Given the description of an element on the screen output the (x, y) to click on. 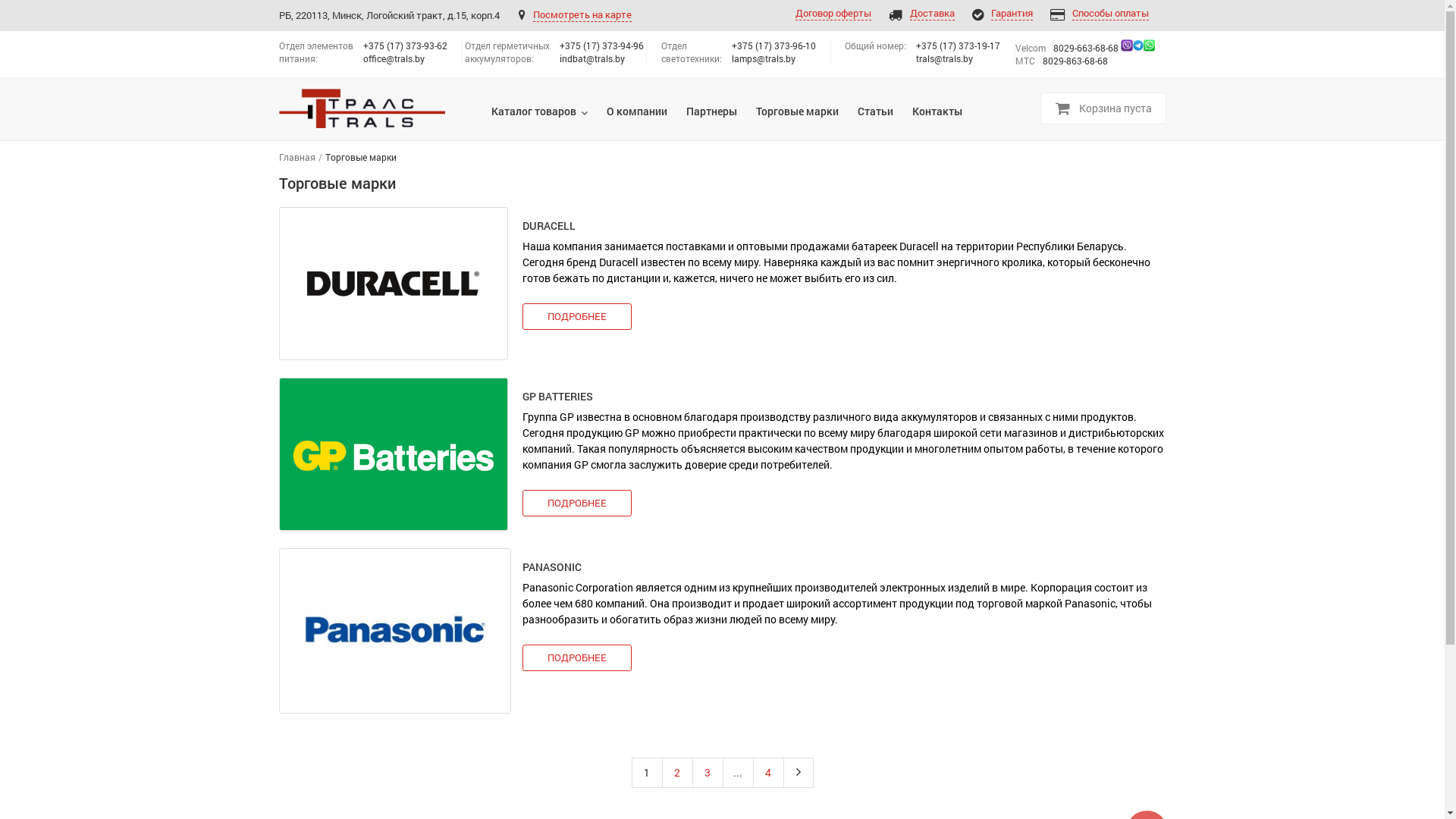
trals@trals.by Element type: text (944, 58)
GP BATTERIES Element type: text (556, 396)
office@trals.by Element type: text (392, 58)
DURACELL Element type: hover (395, 283)
4 Element type: text (768, 772)
indbat@trals.by Element type: text (591, 58)
2 Element type: text (677, 772)
3 Element type: text (707, 772)
DURACELL Element type: text (547, 225)
lamps@trals.by Element type: text (763, 58)
PANASONIC Element type: text (550, 566)
GP BATTERIES Element type: hover (395, 453)
PANASONIC Element type: hover (395, 630)
